Given the description of an element on the screen output the (x, y) to click on. 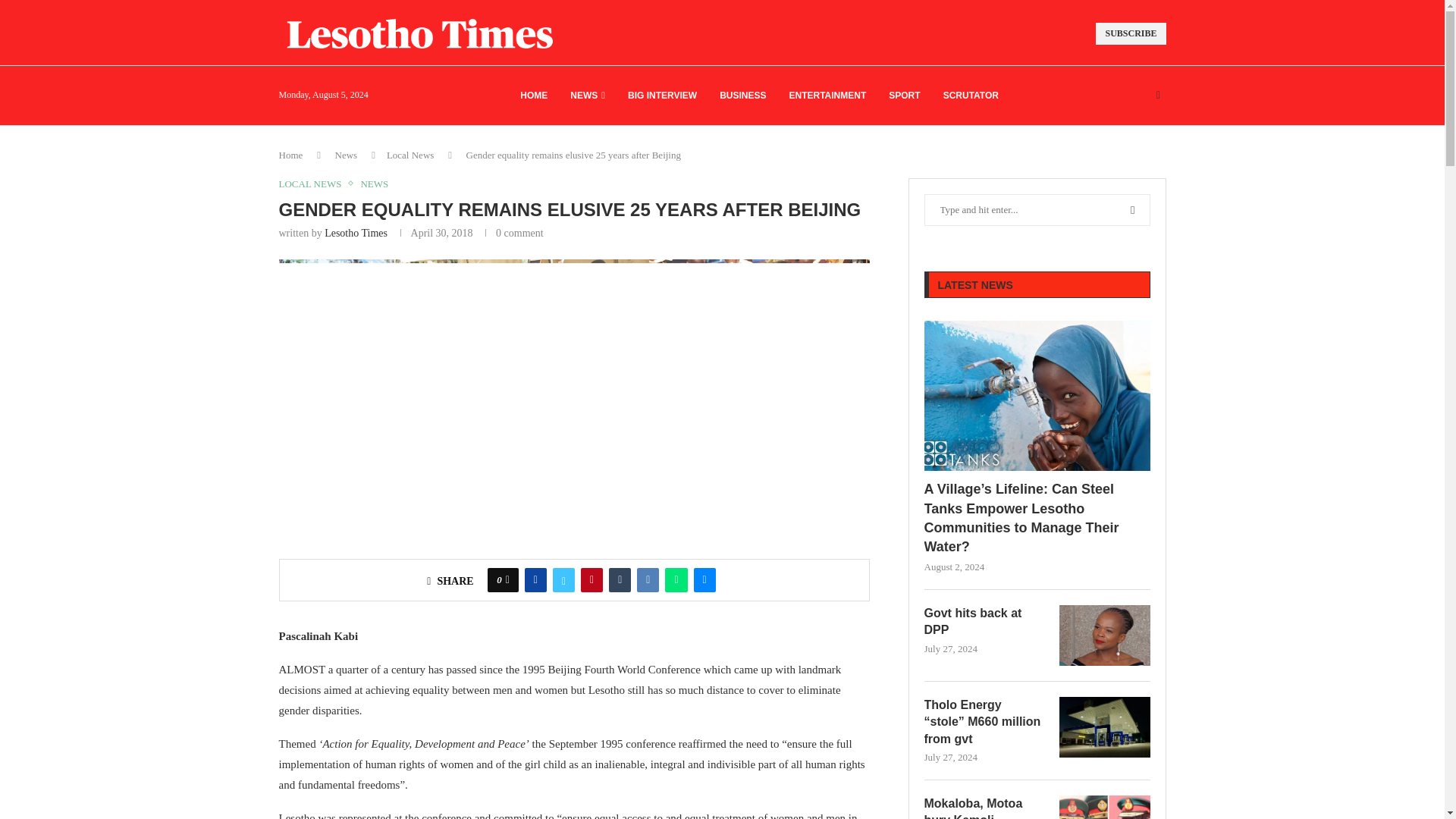
ENTERTAINMENT (827, 95)
SUBSCRIBE (1131, 33)
BIG INTERVIEW (662, 95)
SCRUTATOR (970, 95)
BUSINESS (742, 95)
